Given the description of an element on the screen output the (x, y) to click on. 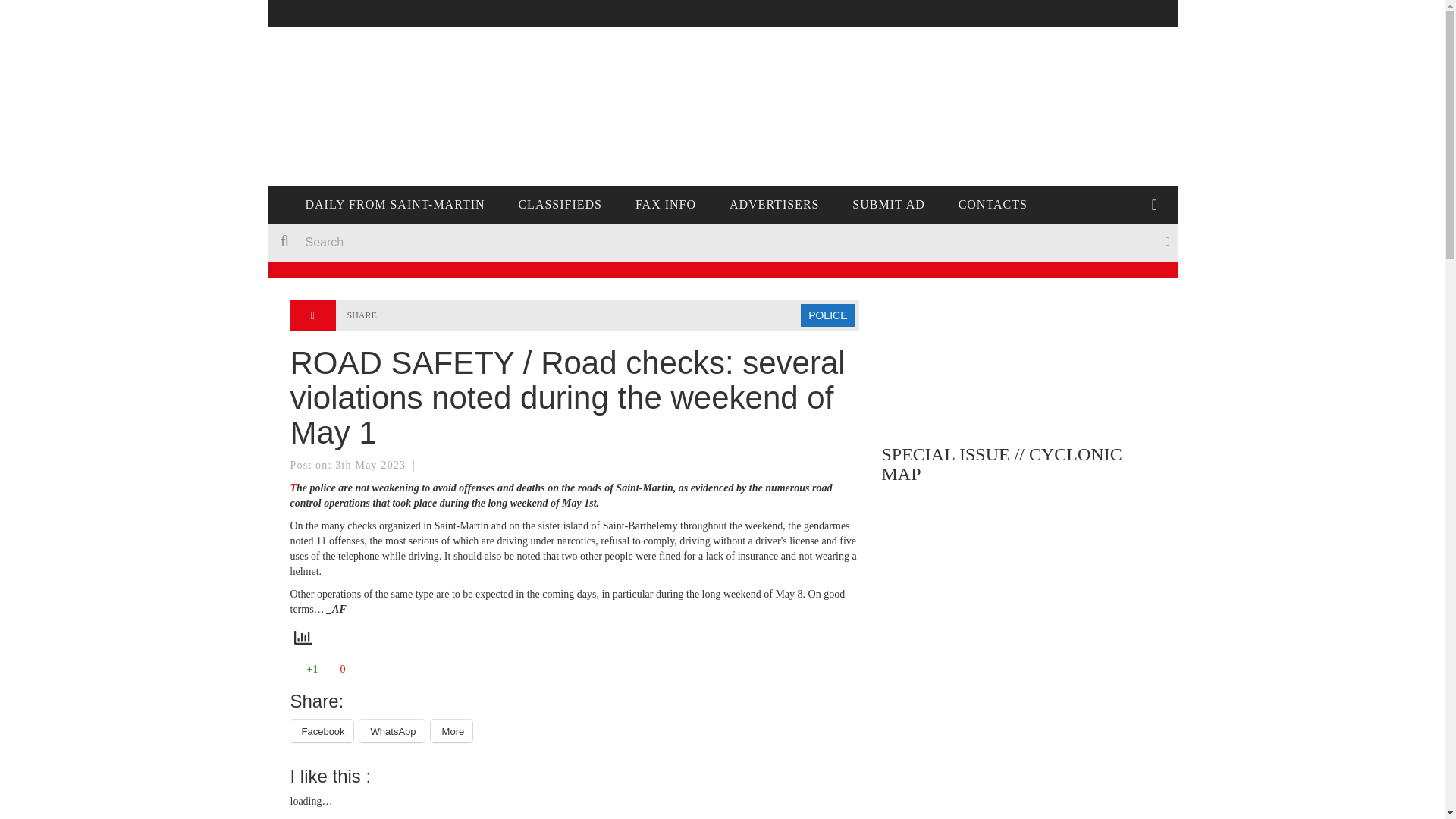
DAILY FROM SAINT-MARTIN (394, 204)
CLASSIFIEDS (559, 204)
ADVERTISERS (774, 204)
FAX INFO (665, 204)
Search (494, 242)
